Given the description of an element on the screen output the (x, y) to click on. 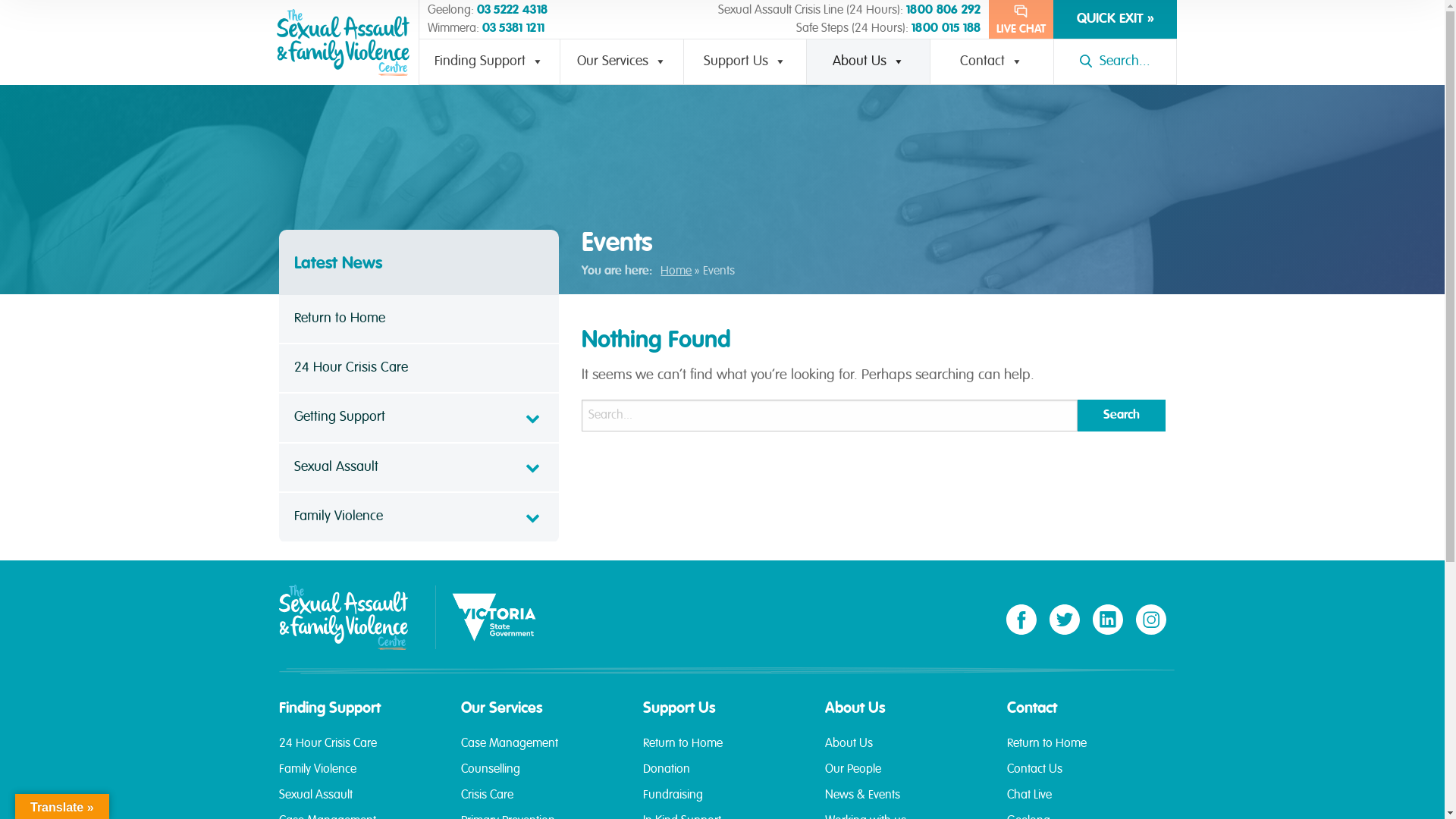
Search... Element type: text (1115, 61)
24 Hour Crisis Care Element type: text (358, 750)
Search for: Element type: hover (829, 415)
Our People Element type: text (904, 776)
Fundraising Element type: text (722, 802)
Our Services Element type: text (621, 61)
LIVE CHAT Element type: text (1020, 19)
News & Events Element type: text (904, 802)
Crisis Care Element type: text (540, 802)
Contact Element type: text (991, 61)
Sexual Assault Element type: text (419, 467)
Return to Home Element type: text (722, 750)
1800 806 292 Element type: text (943, 10)
Support Us Element type: text (745, 61)
Counselling Element type: text (540, 776)
Search Element type: text (1121, 415)
About Us Element type: text (867, 61)
Home Element type: text (675, 271)
03 5222 4318 Element type: text (511, 10)
Getting Support Element type: text (419, 417)
Case Management Element type: text (540, 750)
Family Violence Element type: text (419, 517)
Return to Home Element type: text (1086, 750)
Sexual Assault Element type: text (358, 802)
Return to Home Element type: text (419, 319)
Contact Us Element type: text (1086, 776)
About Us Element type: text (904, 750)
Family Violence Element type: text (358, 776)
03 5381 1211 Element type: text (513, 28)
Donation Element type: text (722, 776)
Chat Live Element type: text (1086, 802)
24 Hour Crisis Care Element type: text (419, 368)
1800 015 188 Element type: text (946, 28)
Finding Support Element type: text (489, 61)
